Given the description of an element on the screen output the (x, y) to click on. 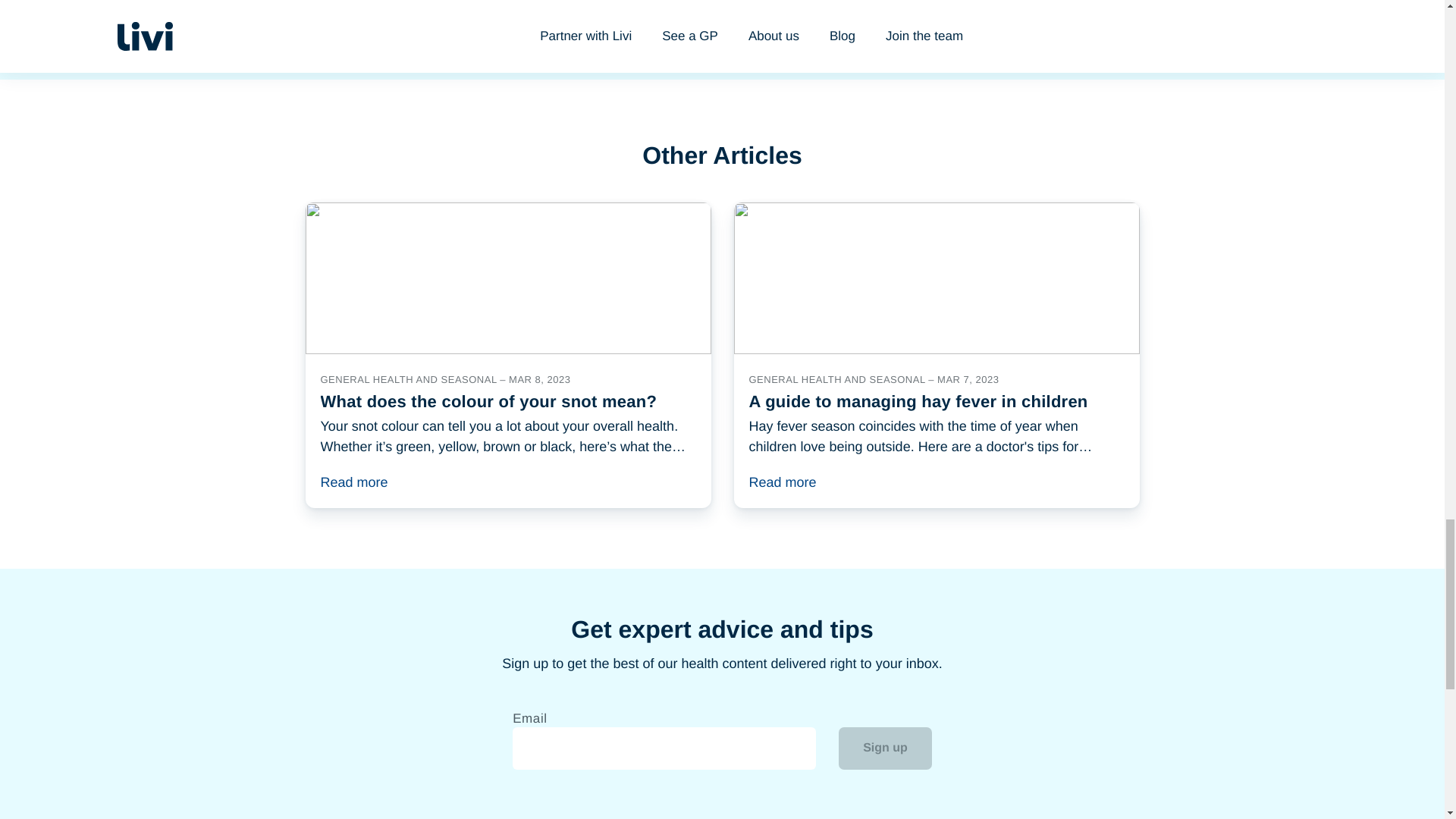
A guide to managing hay fever in children (936, 355)
Book appointment (722, 20)
What does the colour of your snot mean? (507, 355)
Sign up (884, 748)
Book appointment (722, 20)
